Given the description of an element on the screen output the (x, y) to click on. 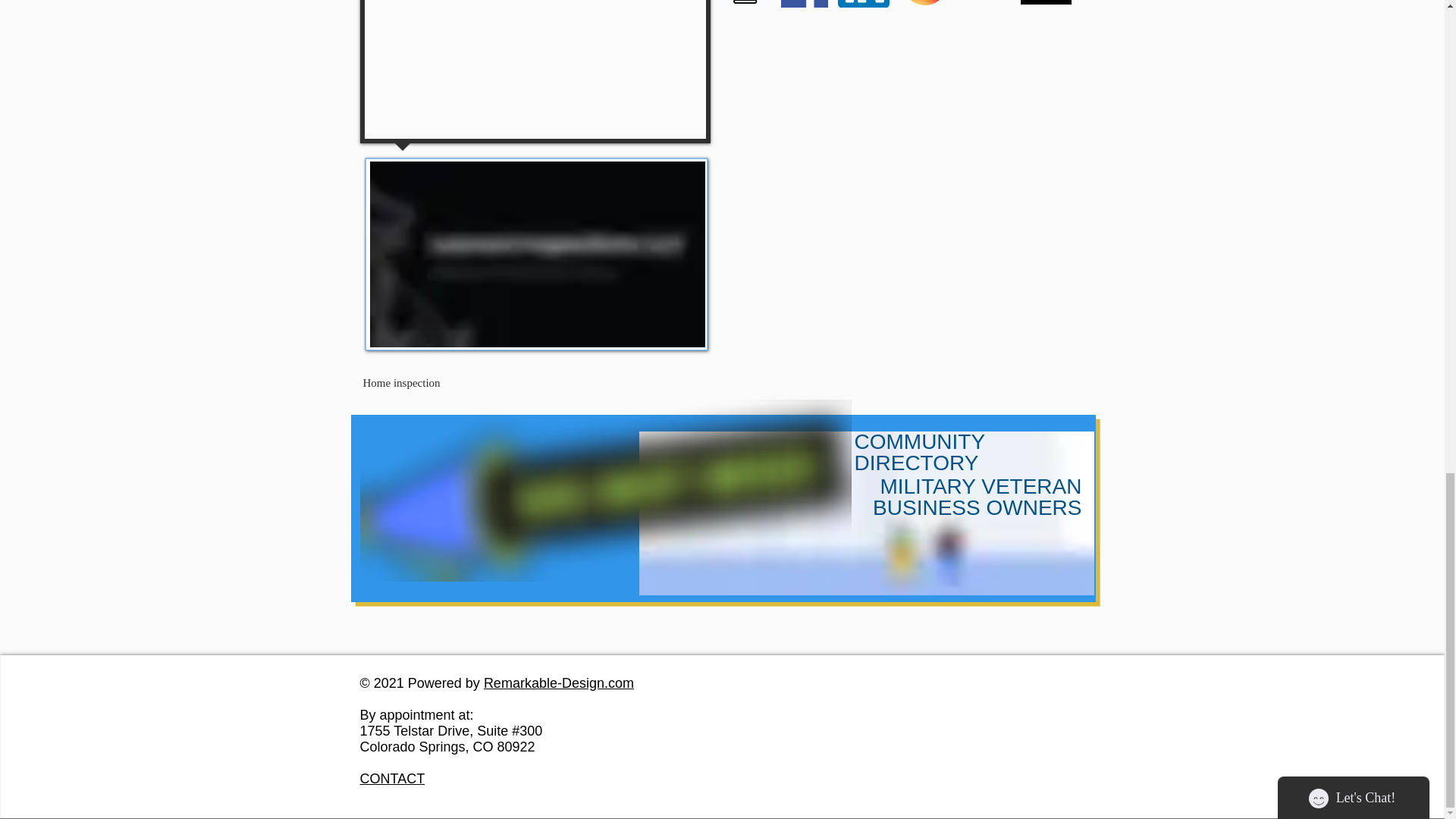
Remarkable-Design.com (558, 683)
CONTACT (392, 778)
leonardInspectionsLLC.jpg (536, 254)
